Given the description of an element on the screen output the (x, y) to click on. 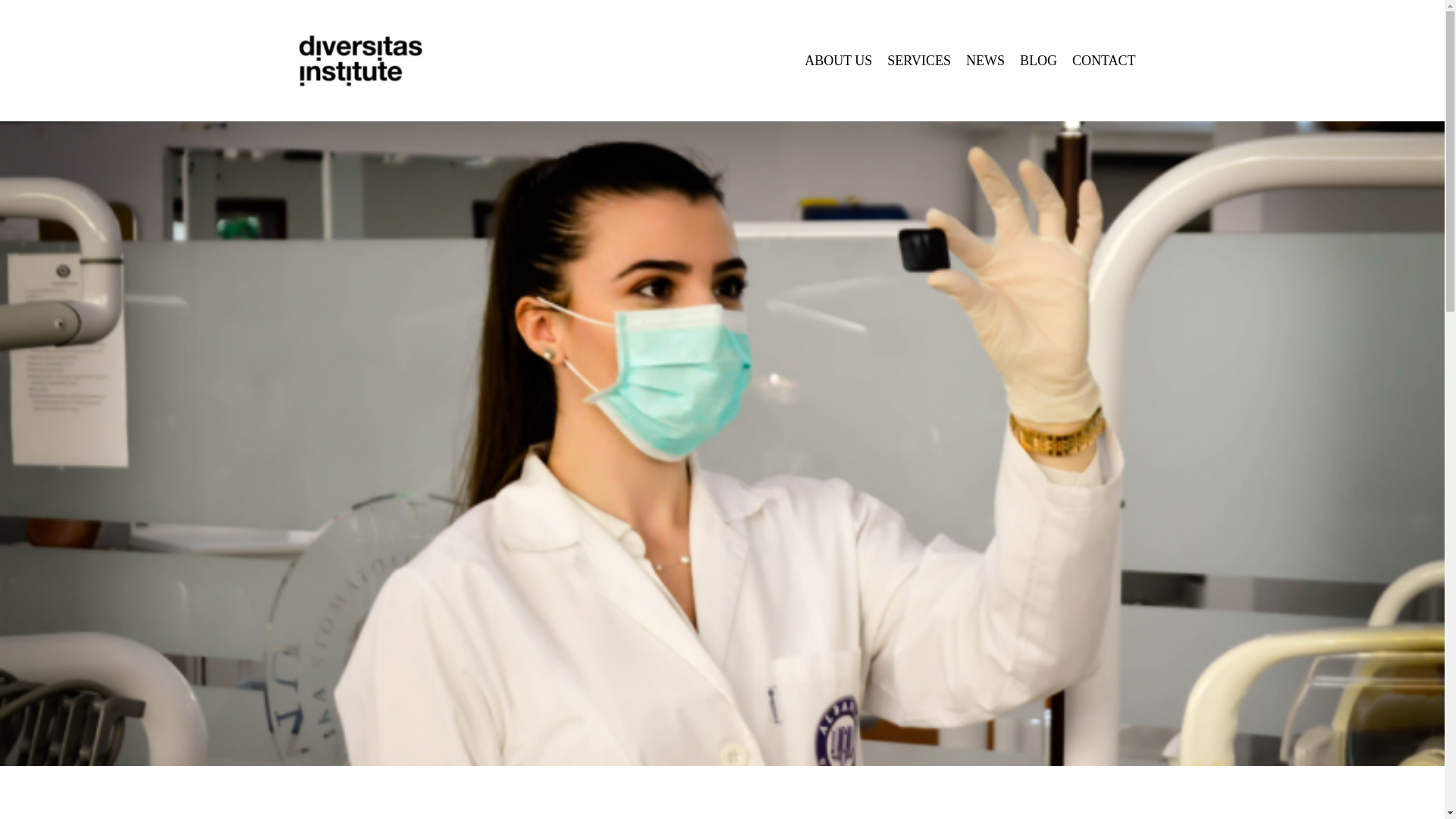
logo (357, 60)
CONTACT (1103, 60)
BLOG (1037, 60)
SERVICES (918, 60)
ABOUT US (837, 60)
NEWS (984, 60)
